Given the description of an element on the screen output the (x, y) to click on. 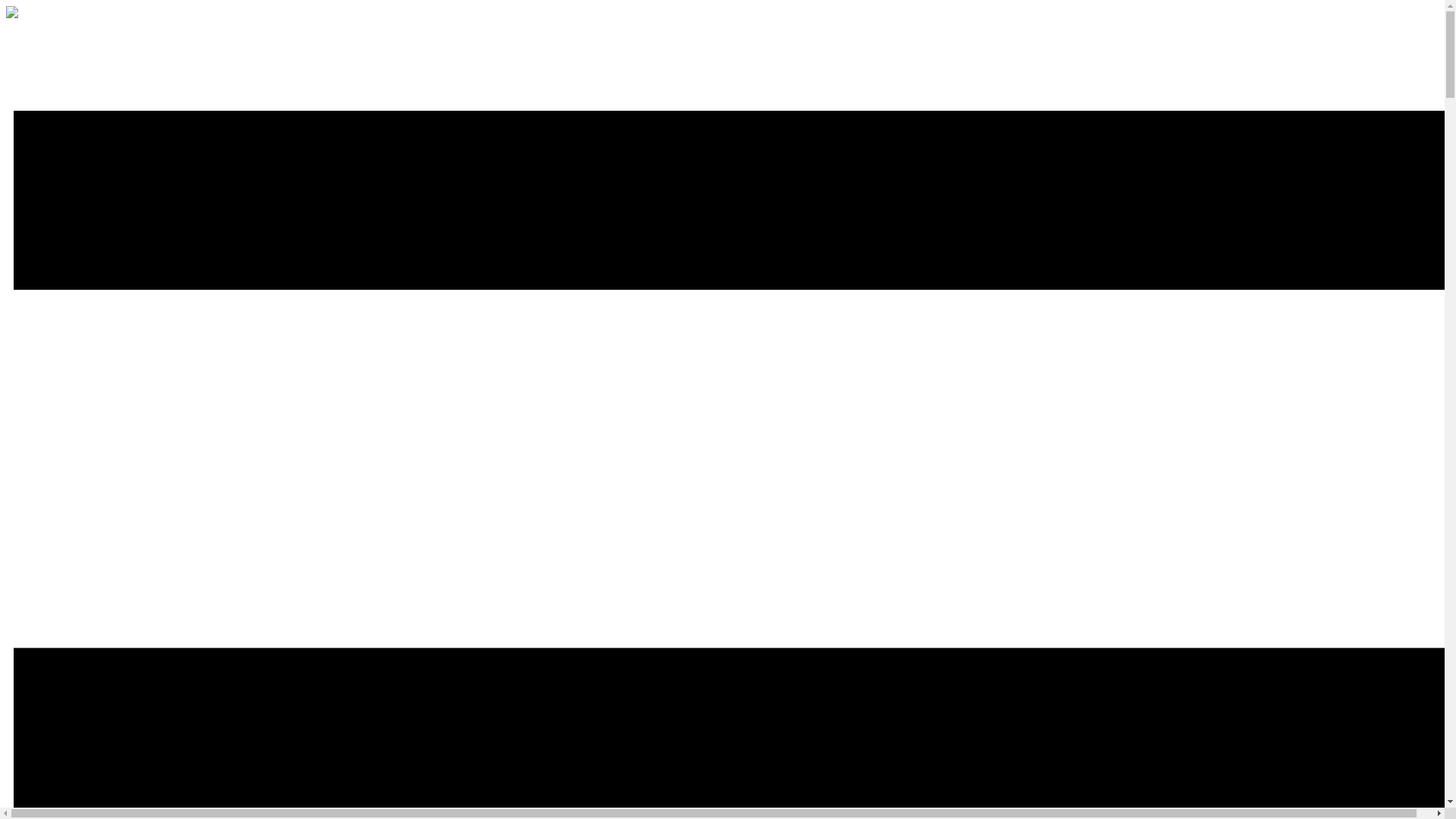
Home (11, 13)
